Given the description of an element on the screen output the (x, y) to click on. 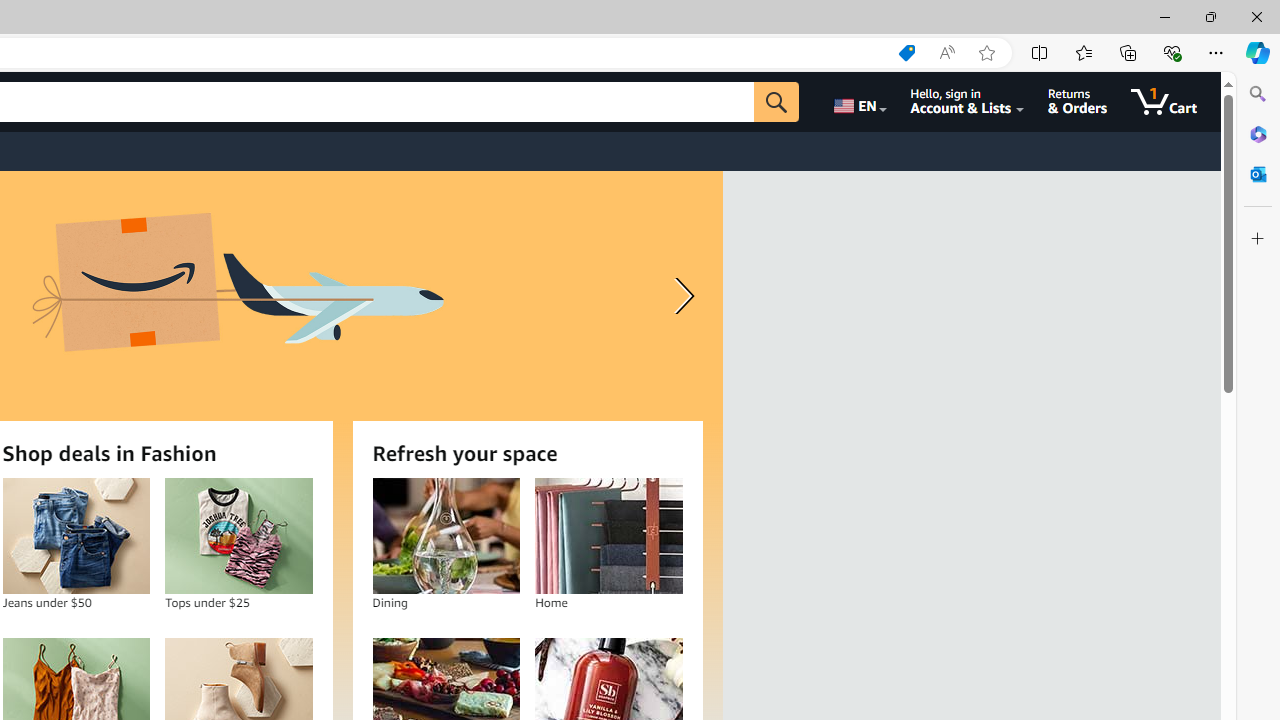
Tops under $25 (239, 536)
Tops under $25 (238, 536)
1 item in cart (1163, 101)
Next slide (680, 296)
Choose a language for shopping. (858, 101)
Shopping in Microsoft Edge (906, 53)
Dining (445, 536)
